Given the description of an element on the screen output the (x, y) to click on. 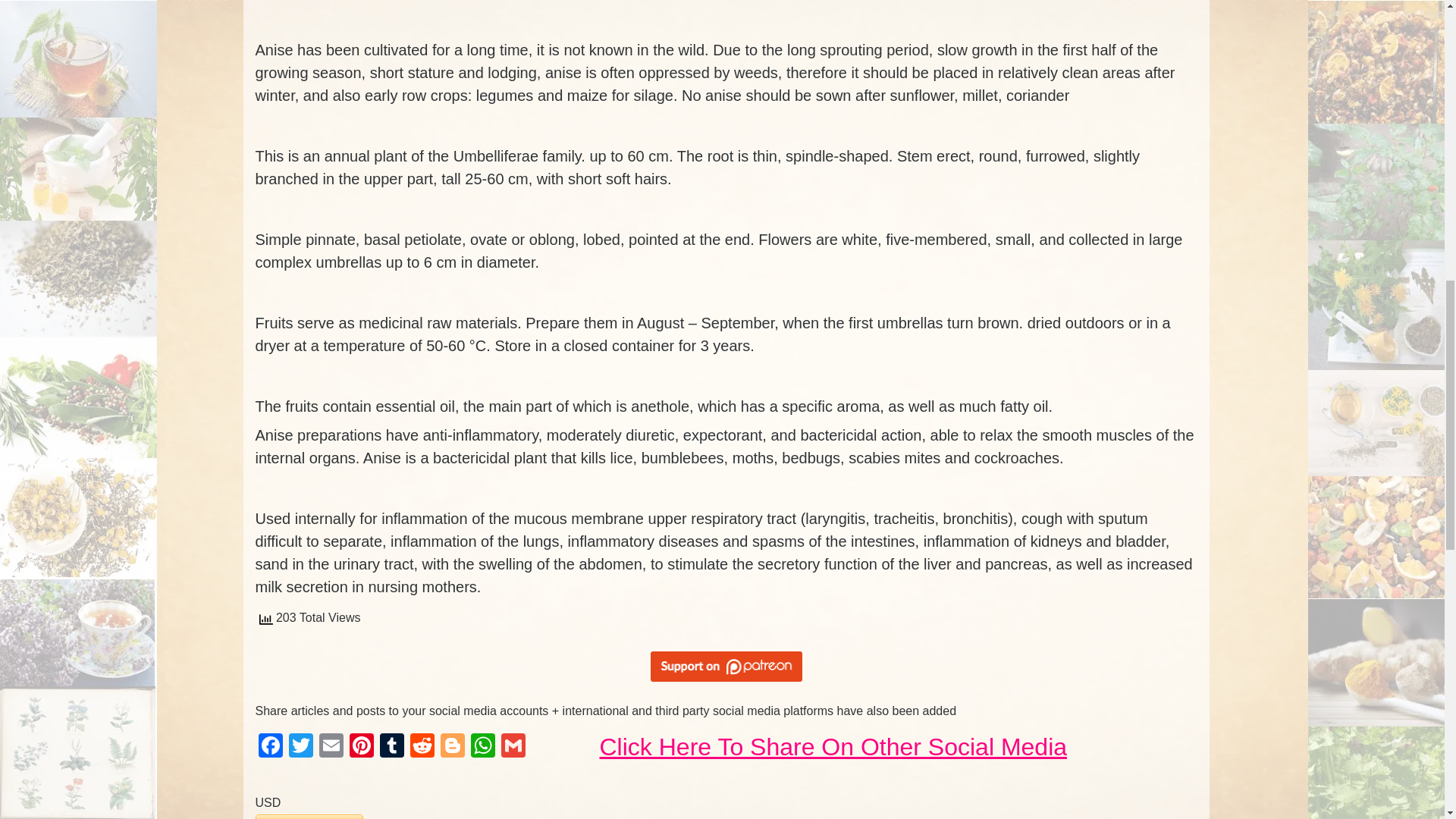
Blogger (451, 747)
Reddit (421, 747)
Tumblr (390, 747)
Gmail (512, 747)
Facebook (269, 747)
Twitter (300, 747)
WhatsApp (482, 747)
Email (330, 747)
Pinterest (360, 747)
